Given the description of an element on the screen output the (x, y) to click on. 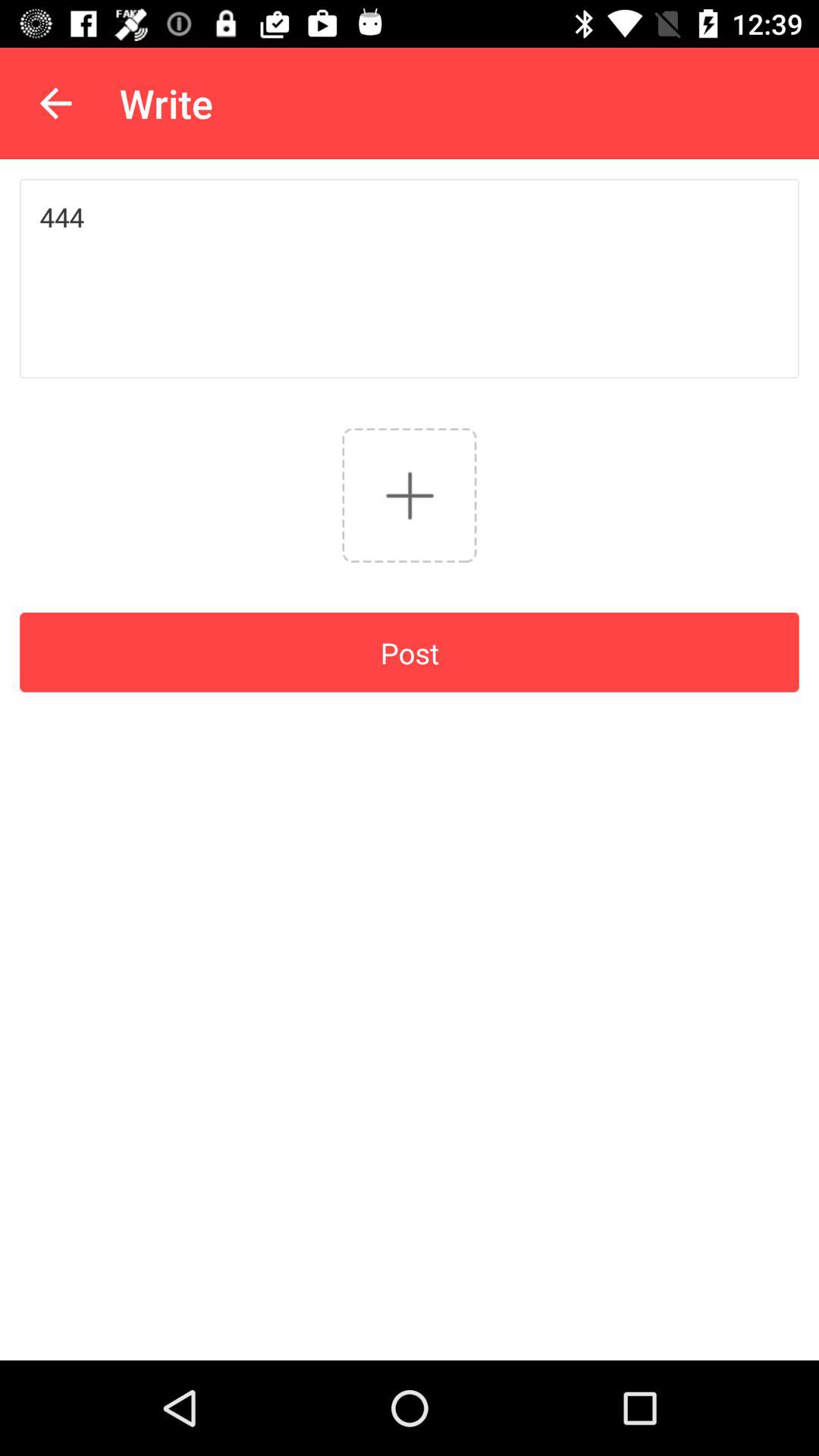
select app next to the write app (55, 103)
